Given the description of an element on the screen output the (x, y) to click on. 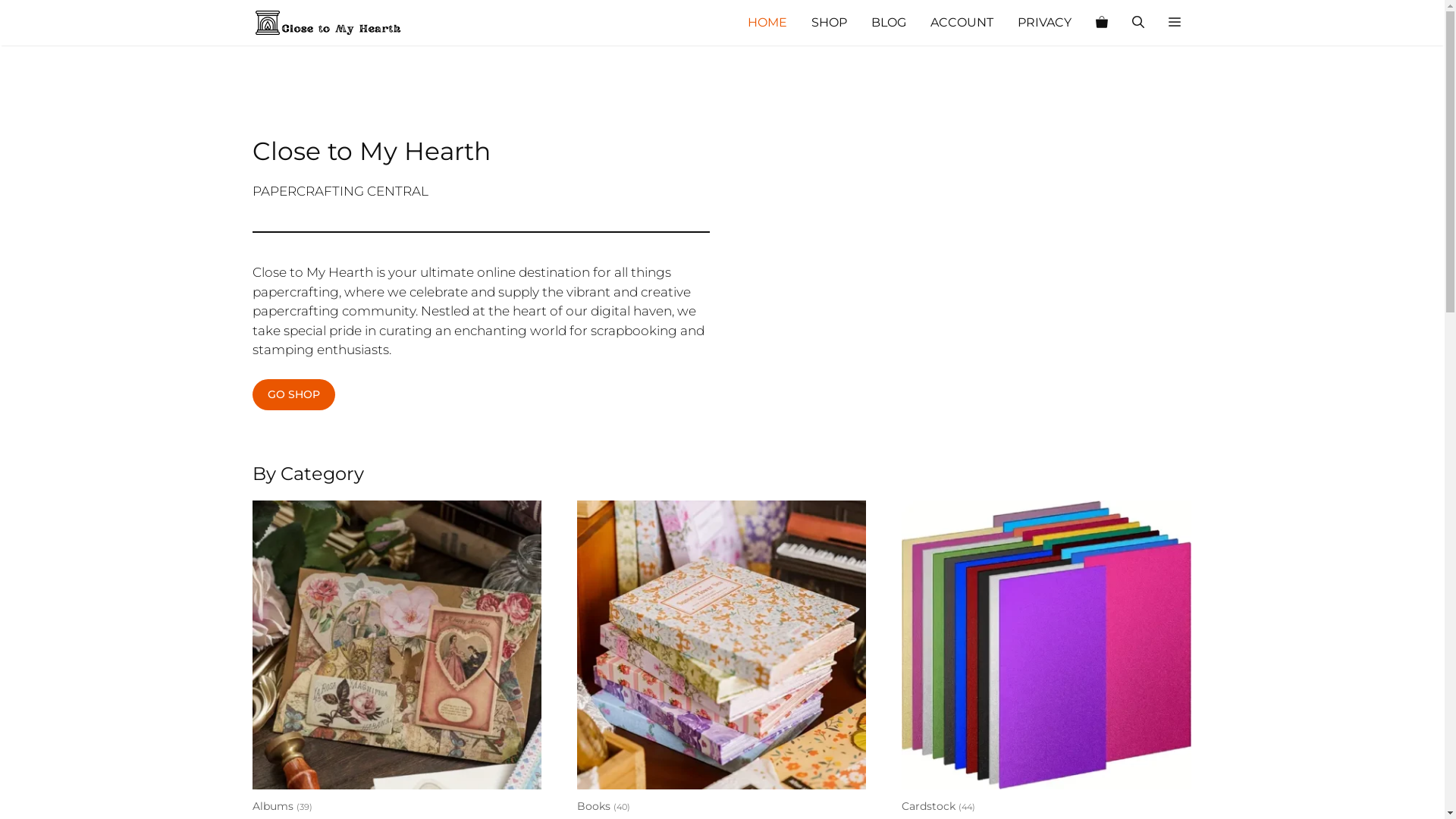
GO SHOP Element type: text (292, 394)
BLOG Element type: text (887, 22)
Close To My Hearth Element type: hover (327, 22)
SHOP Element type: text (829, 22)
HOME Element type: text (767, 22)
PRIVACY Element type: text (1044, 22)
ACCOUNT Element type: text (960, 22)
View your shopping cart Element type: hover (1100, 22)
